Given the description of an element on the screen output the (x, y) to click on. 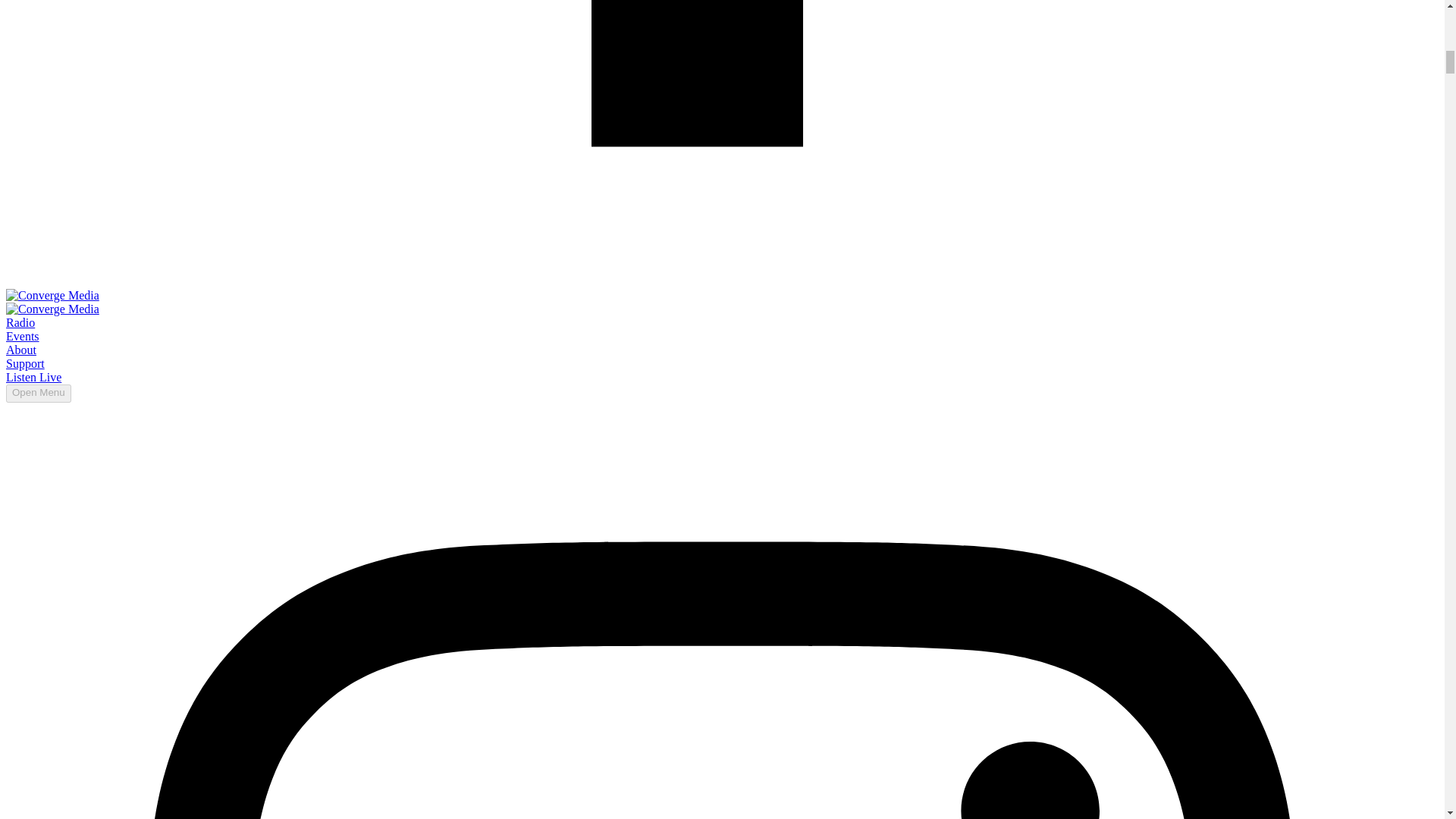
About (20, 349)
Radio (19, 322)
Events (22, 336)
Open Menu (38, 393)
Support (25, 363)
Listen Live (33, 377)
